Given the description of an element on the screen output the (x, y) to click on. 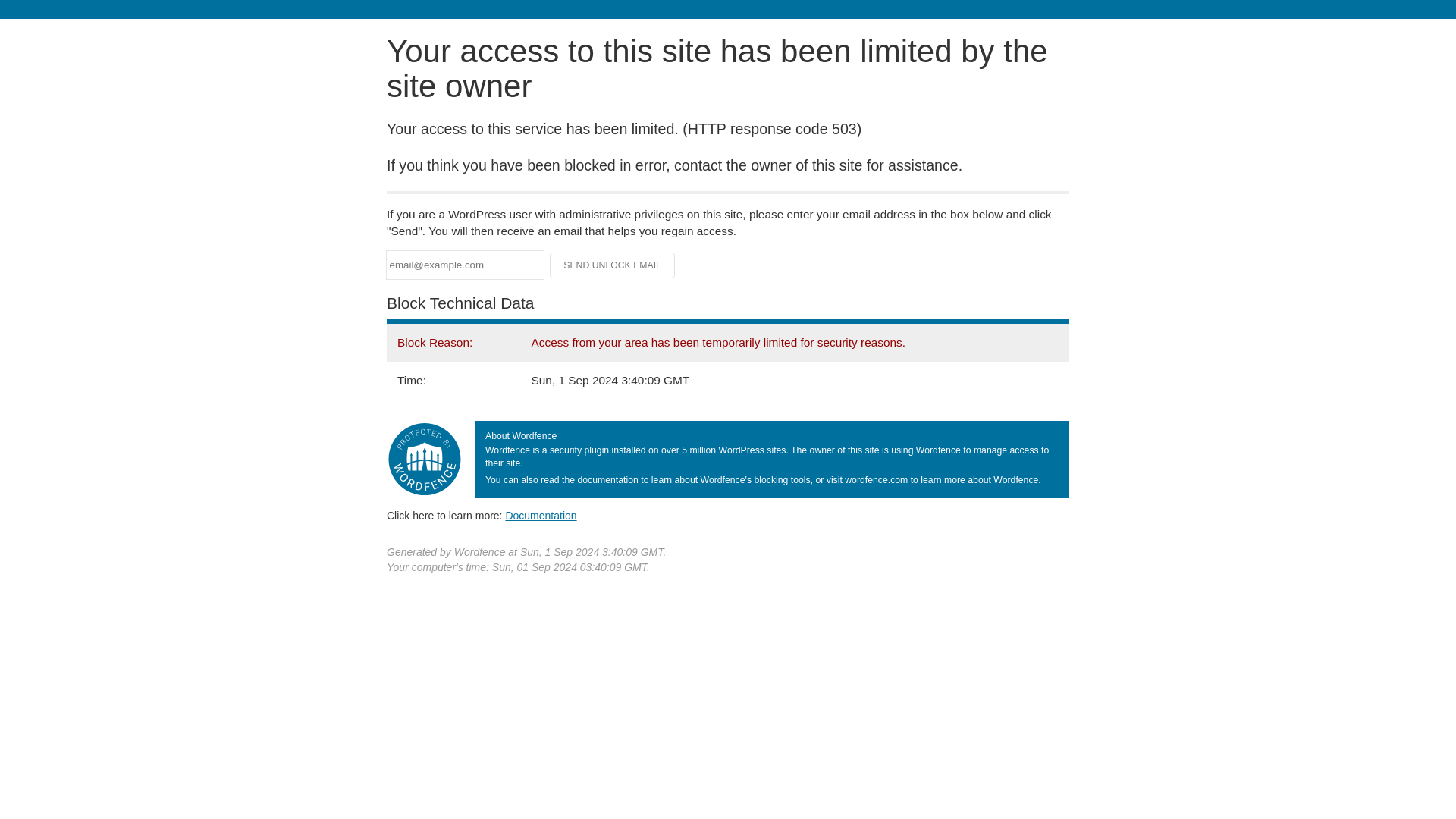
Send Unlock Email (612, 265)
Send Unlock Email (612, 265)
Documentation (540, 515)
